Given the description of an element on the screen output the (x, y) to click on. 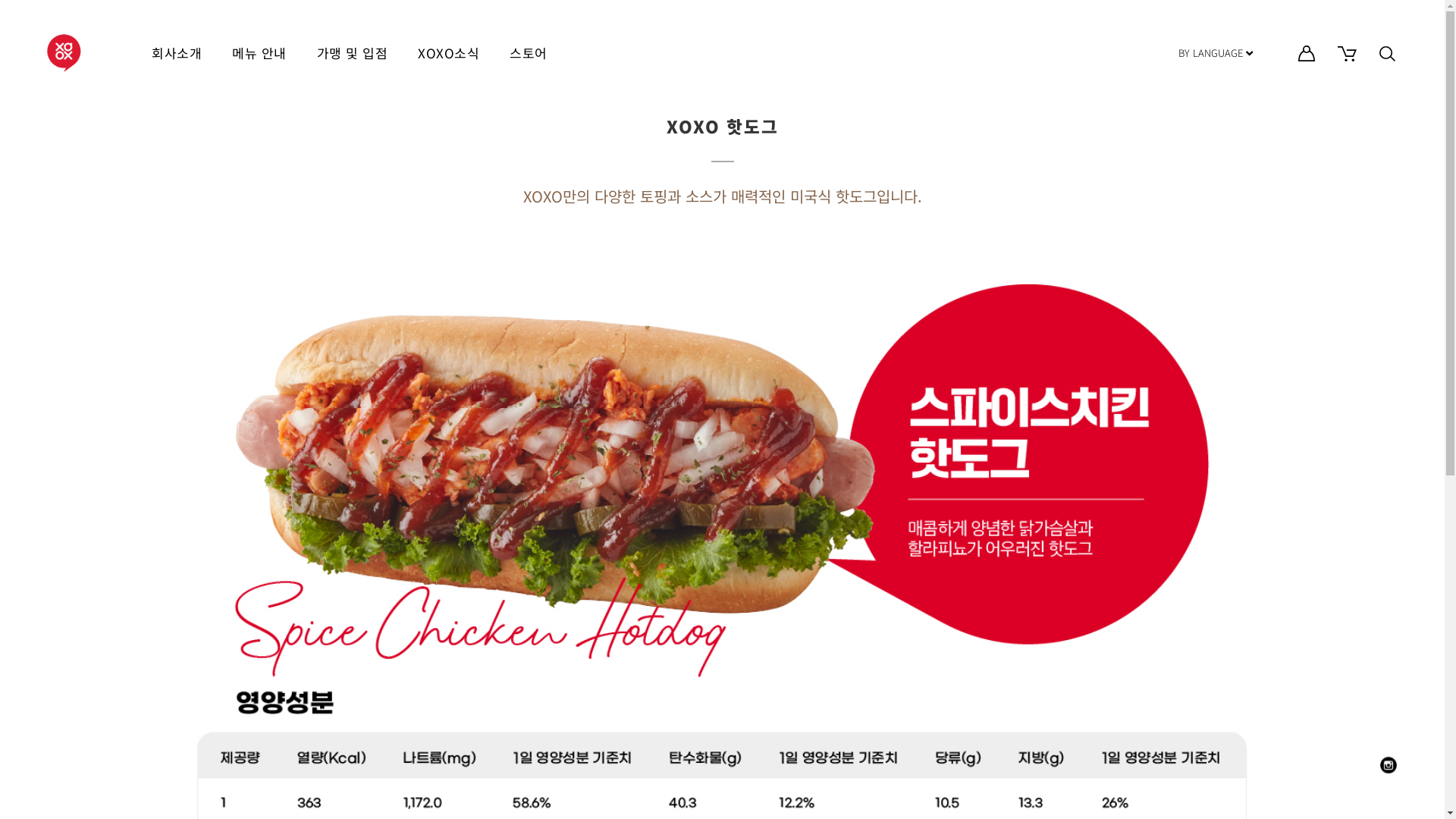
BY LANGUAGE Element type: text (1215, 53)
